Given the description of an element on the screen output the (x, y) to click on. 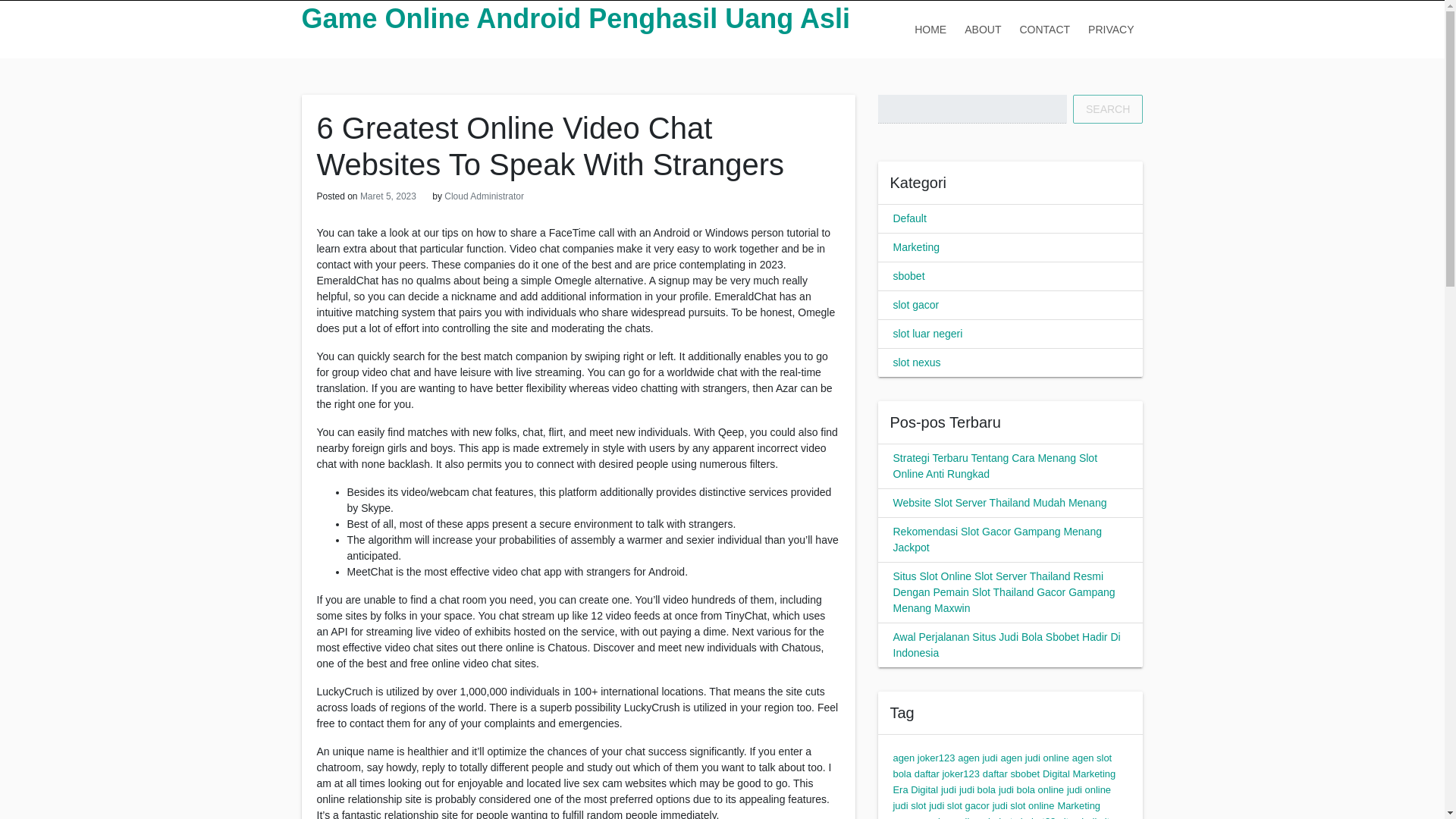
Awal Perjalanan Situs Judi Bola Sbobet Hadir Di Indonesia (1007, 644)
Game Online Android Penghasil Uang Asli (575, 18)
Website Slot Server Thailand Mudah Menang (999, 502)
daftar sbobet (1010, 773)
Maret 5, 2023 (387, 195)
judi (948, 789)
slot luar negeri (927, 333)
slot gacor (916, 304)
Marketing (916, 246)
SEARCH (1107, 109)
agen judi online (1034, 757)
judi bola (977, 789)
CONTACT (1044, 29)
agen joker123 (924, 757)
